Given the description of an element on the screen output the (x, y) to click on. 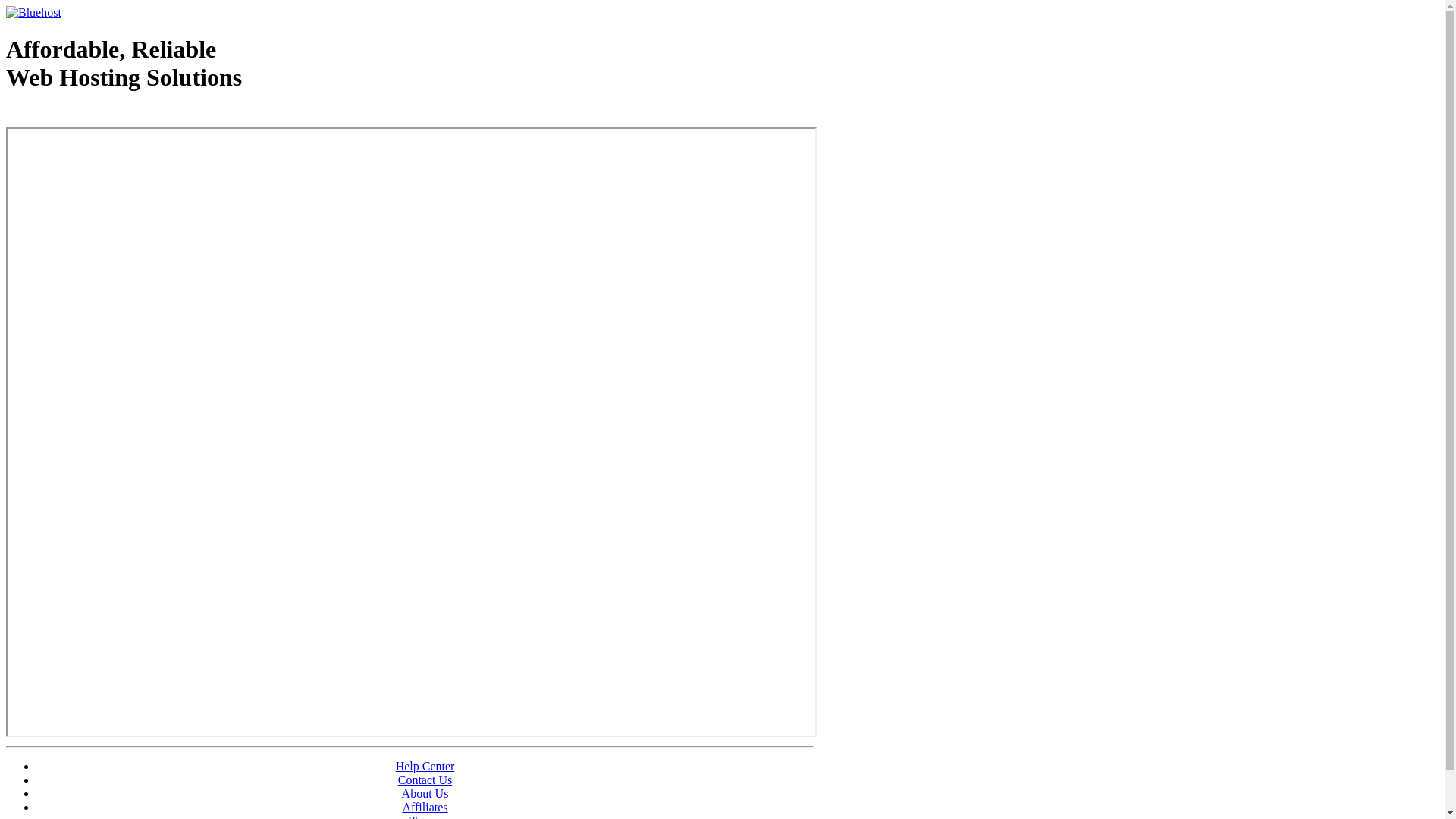
Contact Us Element type: text (425, 779)
About Us Element type: text (424, 793)
Web Hosting - courtesy of www.bluehost.com Element type: text (94, 115)
Affiliates Element type: text (424, 806)
Help Center Element type: text (425, 765)
